Given the description of an element on the screen output the (x, y) to click on. 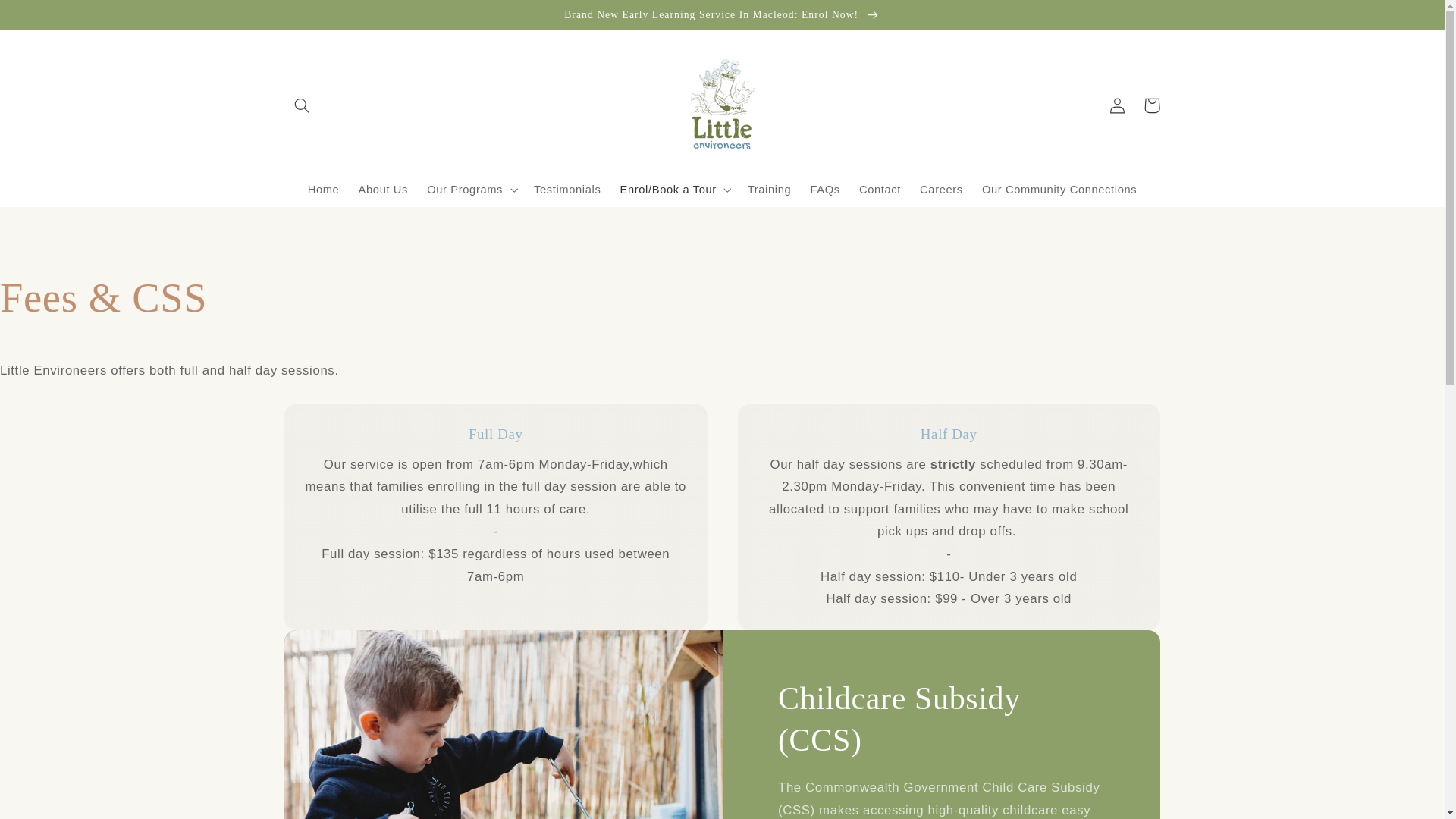
FAQs (824, 190)
Careers (941, 190)
Our Community Connections (1059, 190)
Training (769, 190)
Contact (879, 190)
Home (323, 190)
Testimonials (567, 190)
About Us (383, 190)
Skip to content (48, 18)
